Given the description of an element on the screen output the (x, y) to click on. 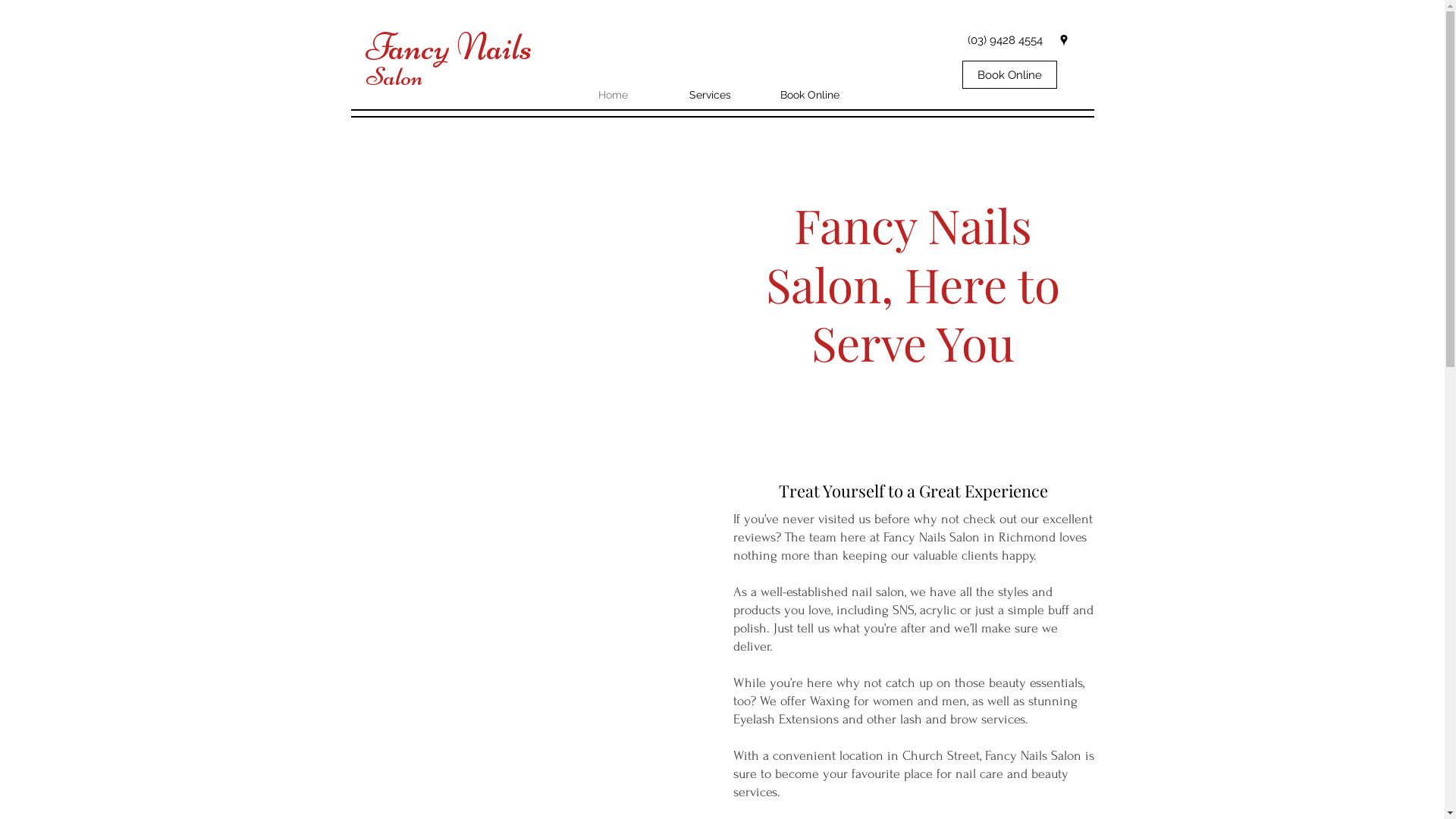
Fancy Nails Element type: text (448, 46)
Salon Element type: text (393, 76)
Book Online Element type: text (1008, 74)
Home Element type: text (634, 94)
Book Online Element type: text (816, 94)
